Given the description of an element on the screen output the (x, y) to click on. 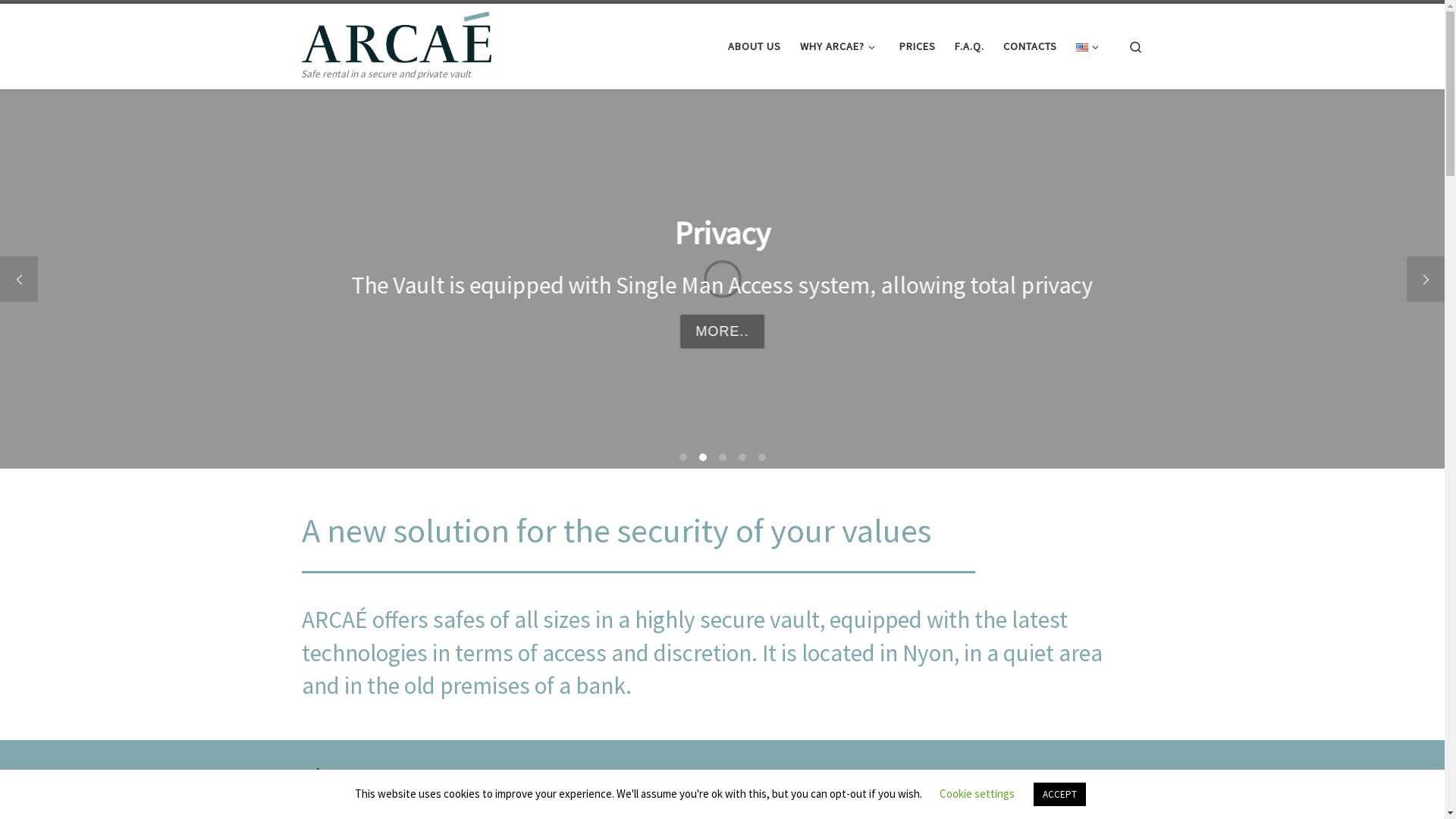
ACCEPT Element type: text (1059, 794)
Search Element type: text (1135, 45)
CONTACTS Element type: text (1030, 46)
Cookie settings Element type: text (976, 793)
MORE.. Element type: text (721, 330)
F.A.Q. Element type: text (969, 46)
PRICES Element type: text (917, 46)
ABOUT US Element type: text (754, 46)
WHY ARCAE? Element type: text (839, 46)
Skip to content Element type: text (57, 21)
